Given the description of an element on the screen output the (x, y) to click on. 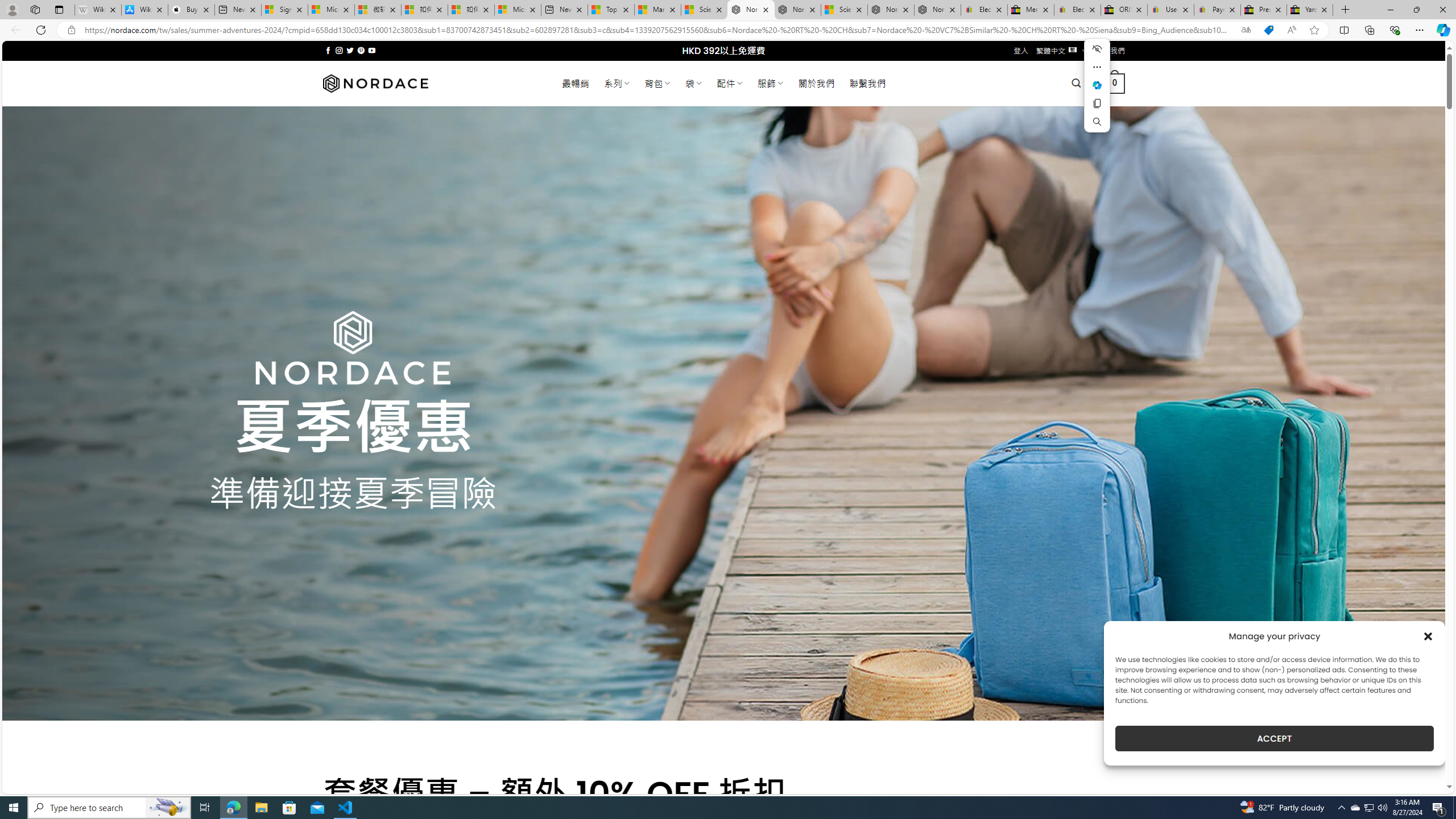
Follow on Twitter (349, 50)
Ask Copilot (1096, 85)
Copy (1096, 103)
This site has coupons! Shopping in Microsoft Edge (1268, 29)
Yard, Garden & Outdoor Living (1309, 9)
